Given the description of an element on the screen output the (x, y) to click on. 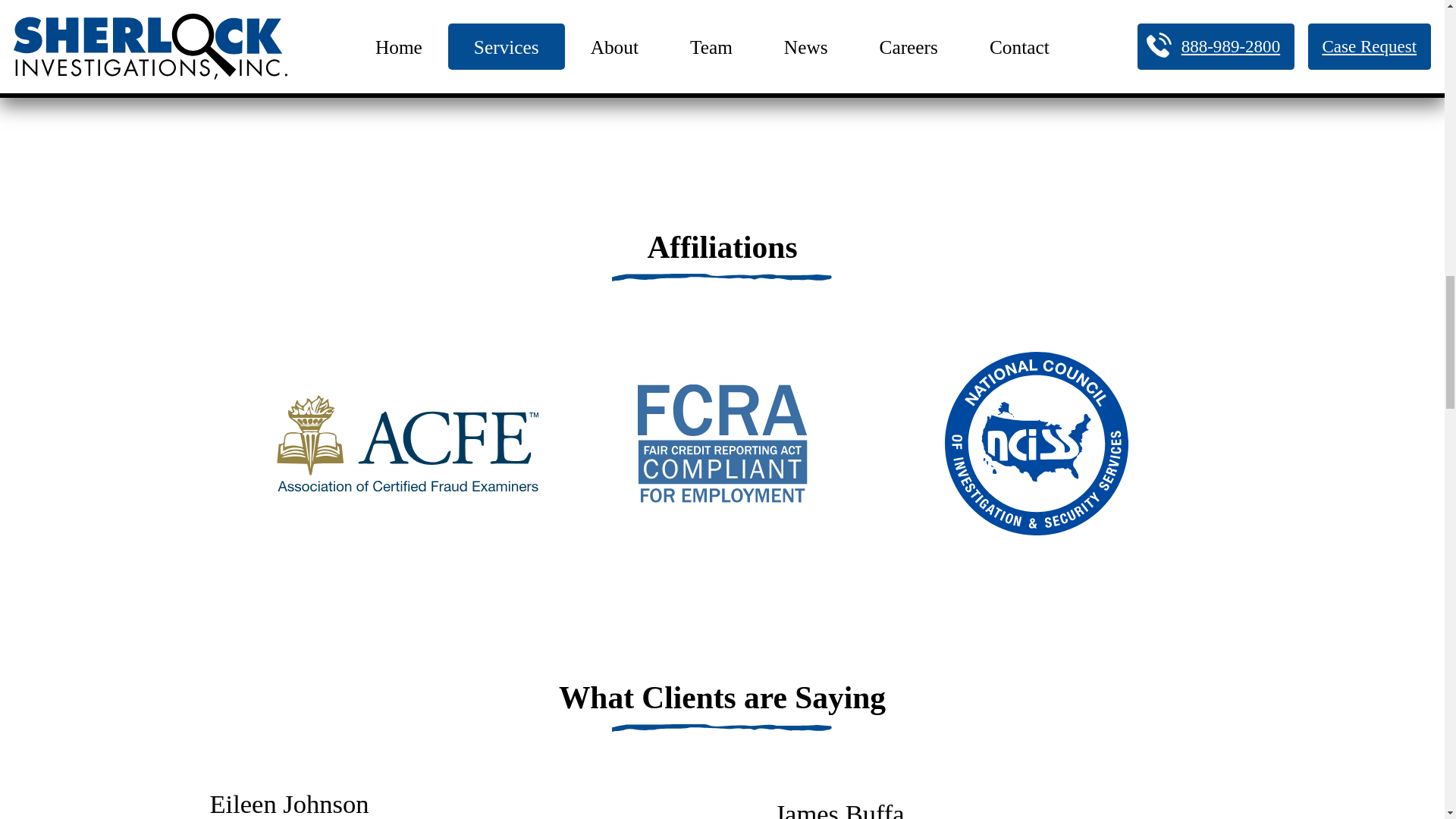
James Buffa (839, 809)
Eileen Johnson (288, 803)
